Given the description of an element on the screen output the (x, y) to click on. 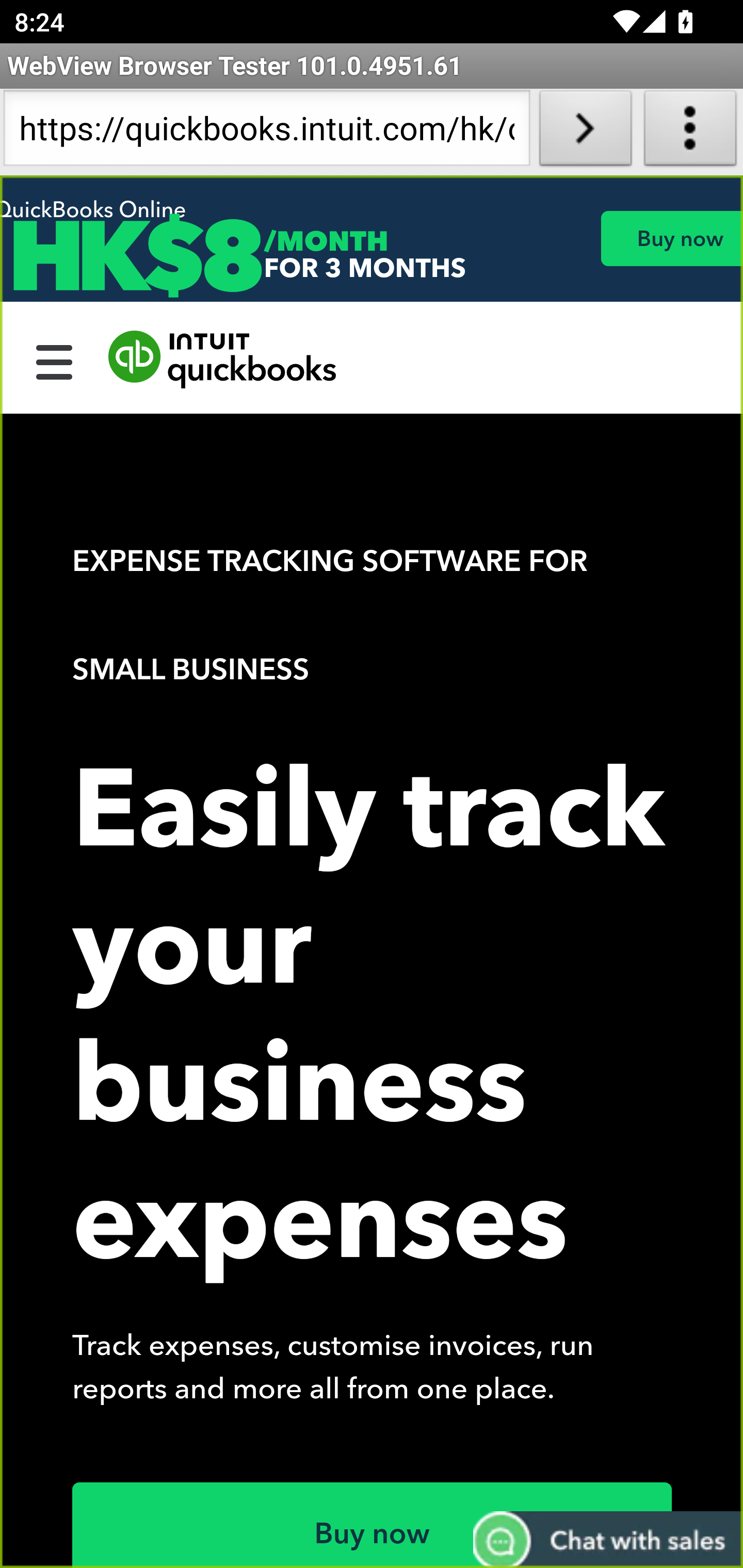
Load URL (585, 132)
About WebView (690, 132)
Buy now (671, 238)
quickbooks-mobile-burger (54, 359)
quickbooks (222, 359)
Buy now (372, 1524)
